Given the description of an element on the screen output the (x, y) to click on. 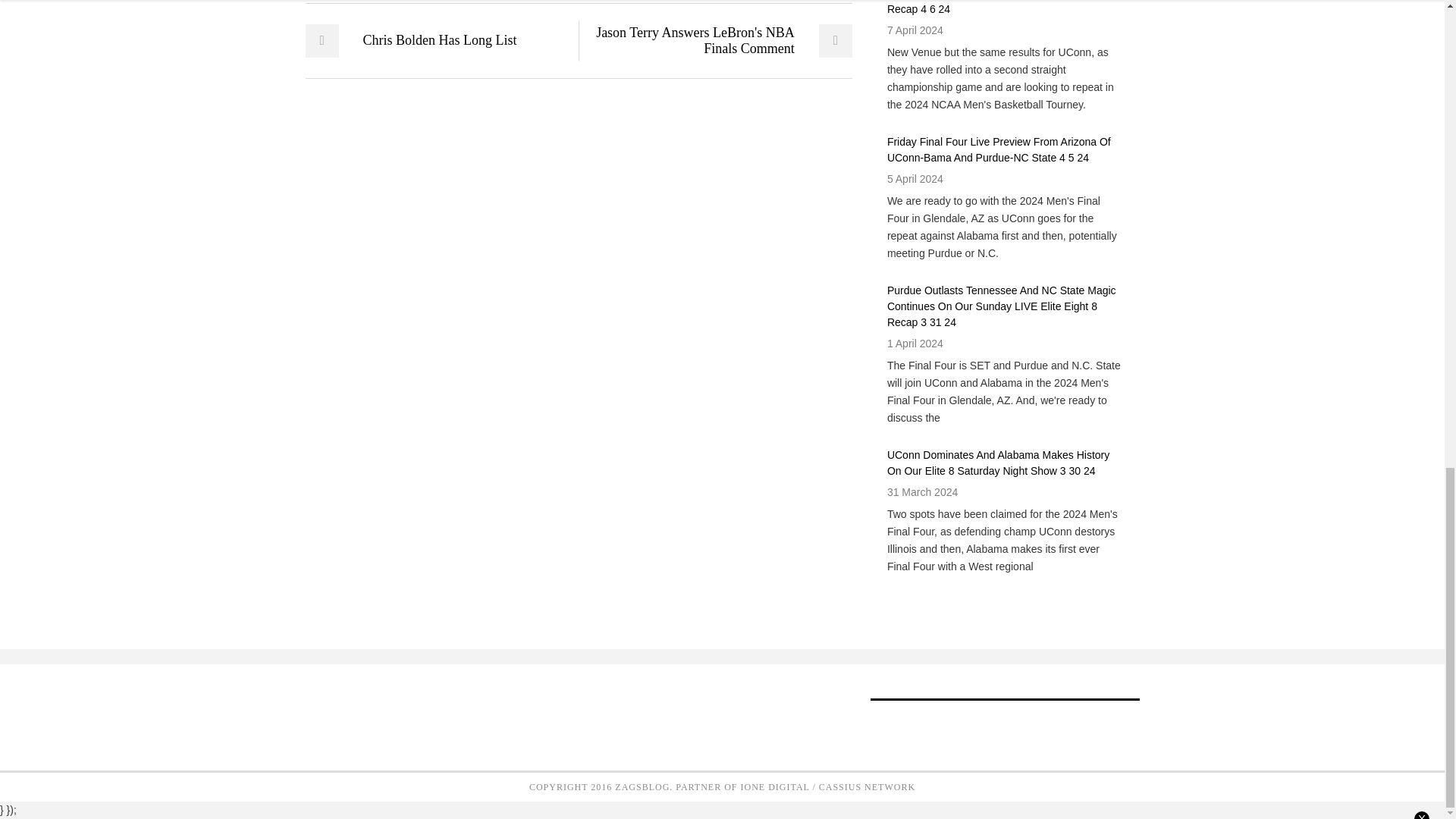
7 April 2024, 4:00 am UTC (914, 30)
1 April 2024, 12:58 am UTC (914, 343)
5 April 2024, 10:12 pm UTC (914, 178)
31 March 2024, 4:40 am UTC (922, 491)
